Given the description of an element on the screen output the (x, y) to click on. 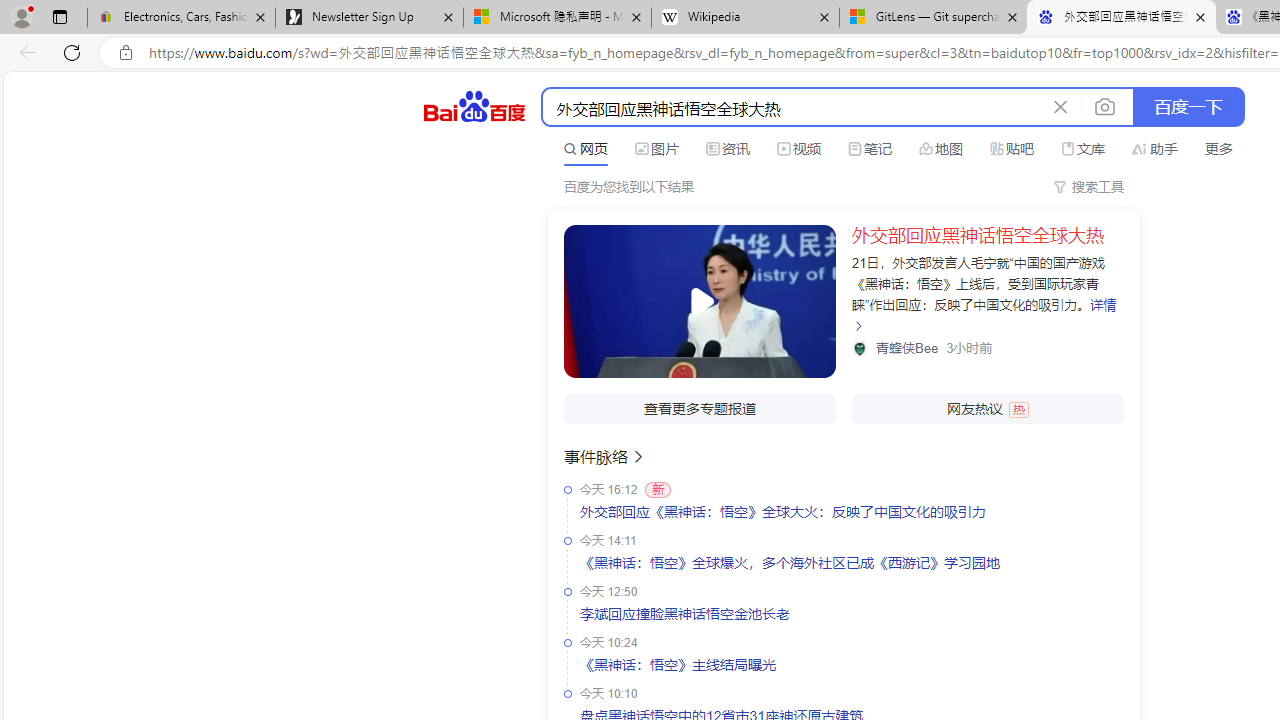
Wikipedia (744, 17)
Newsletter Sign Up (369, 17)
